Given the description of an element on the screen output the (x, y) to click on. 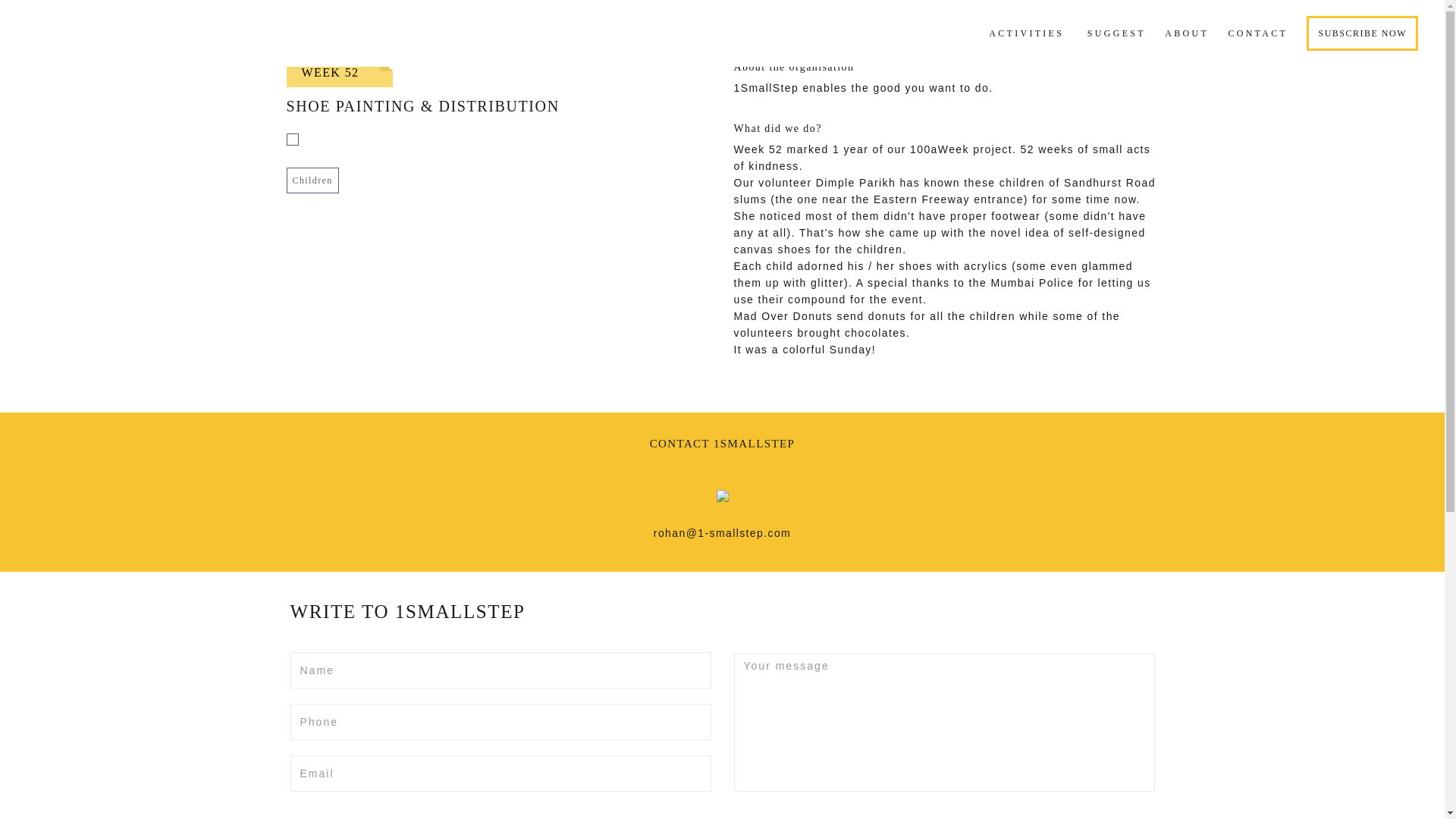
CONTACT (1257, 32)
ACTIVITIES (1026, 32)
SUBSCRIBE NOW (1362, 32)
GO BACK (722, 40)
SUGGEST (1116, 32)
ABOUT (1186, 32)
